Given the description of an element on the screen output the (x, y) to click on. 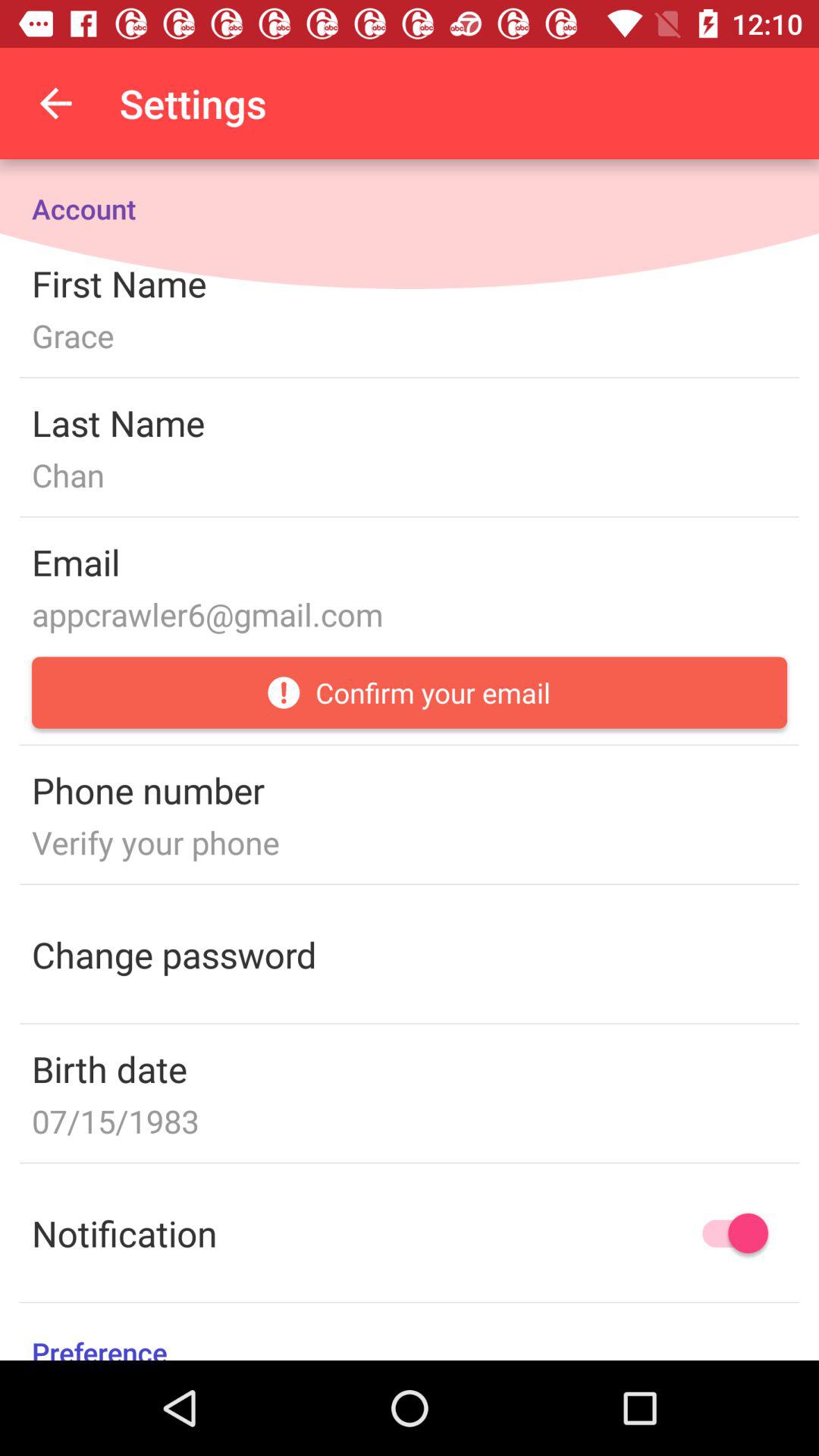
toggle notifications (727, 1233)
